Given the description of an element on the screen output the (x, y) to click on. 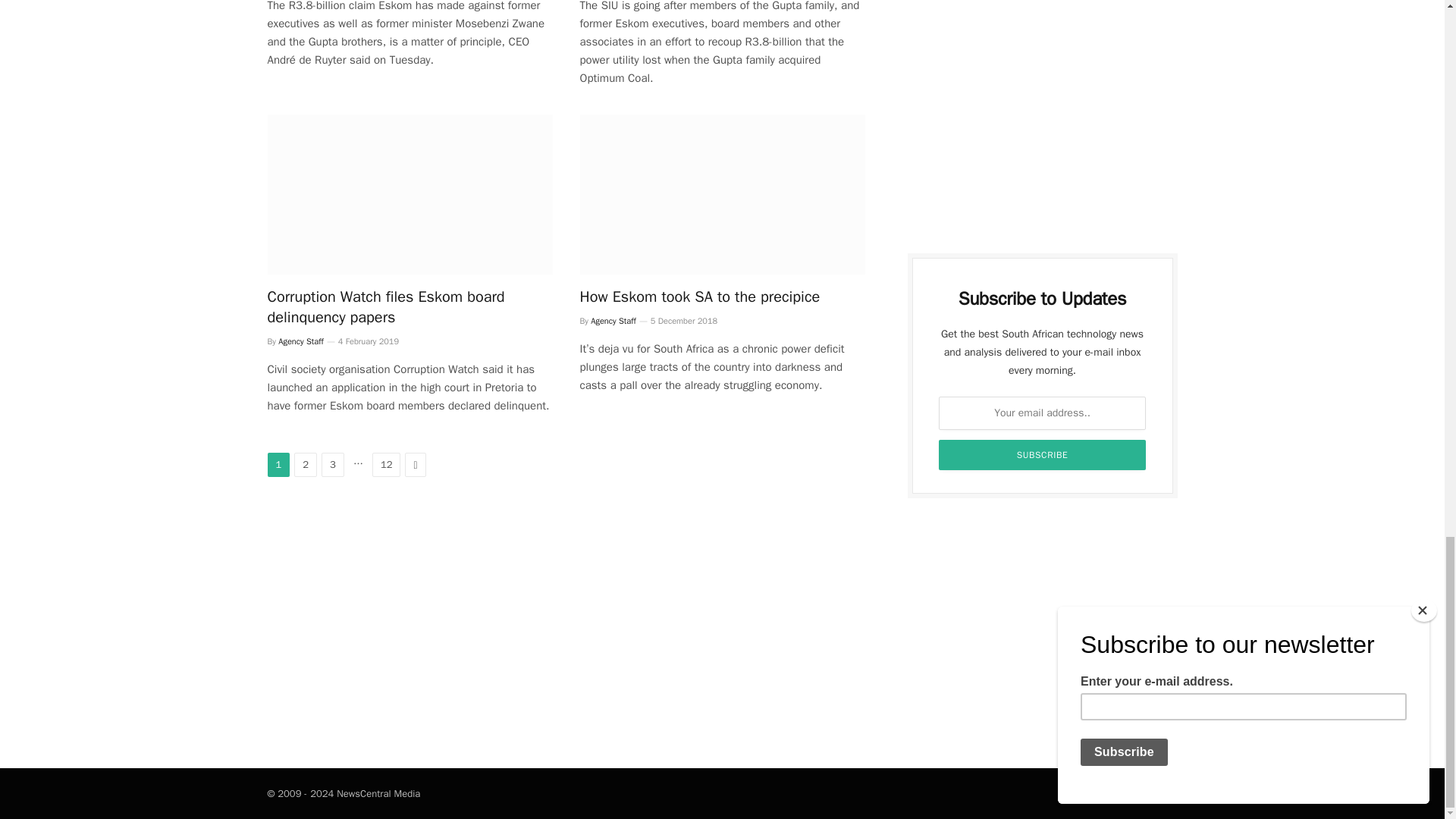
Subscribe (1043, 454)
